Given the description of an element on the screen output the (x, y) to click on. 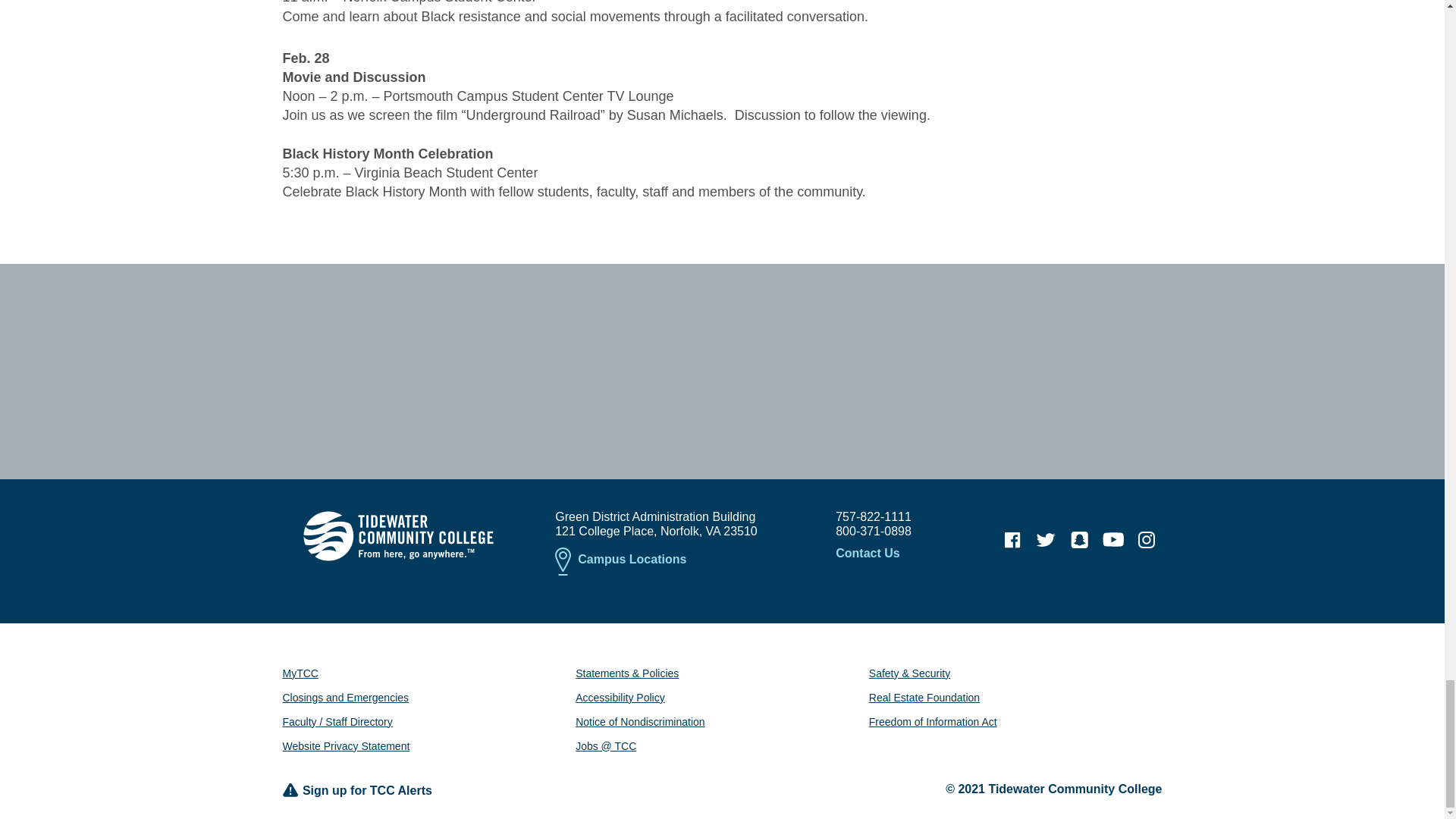
Tidewater Community College (398, 535)
TCC on Snapchat (1079, 539)
TCC on YouTube (1112, 539)
TCC on Instagram (1146, 539)
TCC on Twitter (1045, 539)
TCC on Facebook (1012, 539)
